Given the description of an element on the screen output the (x, y) to click on. 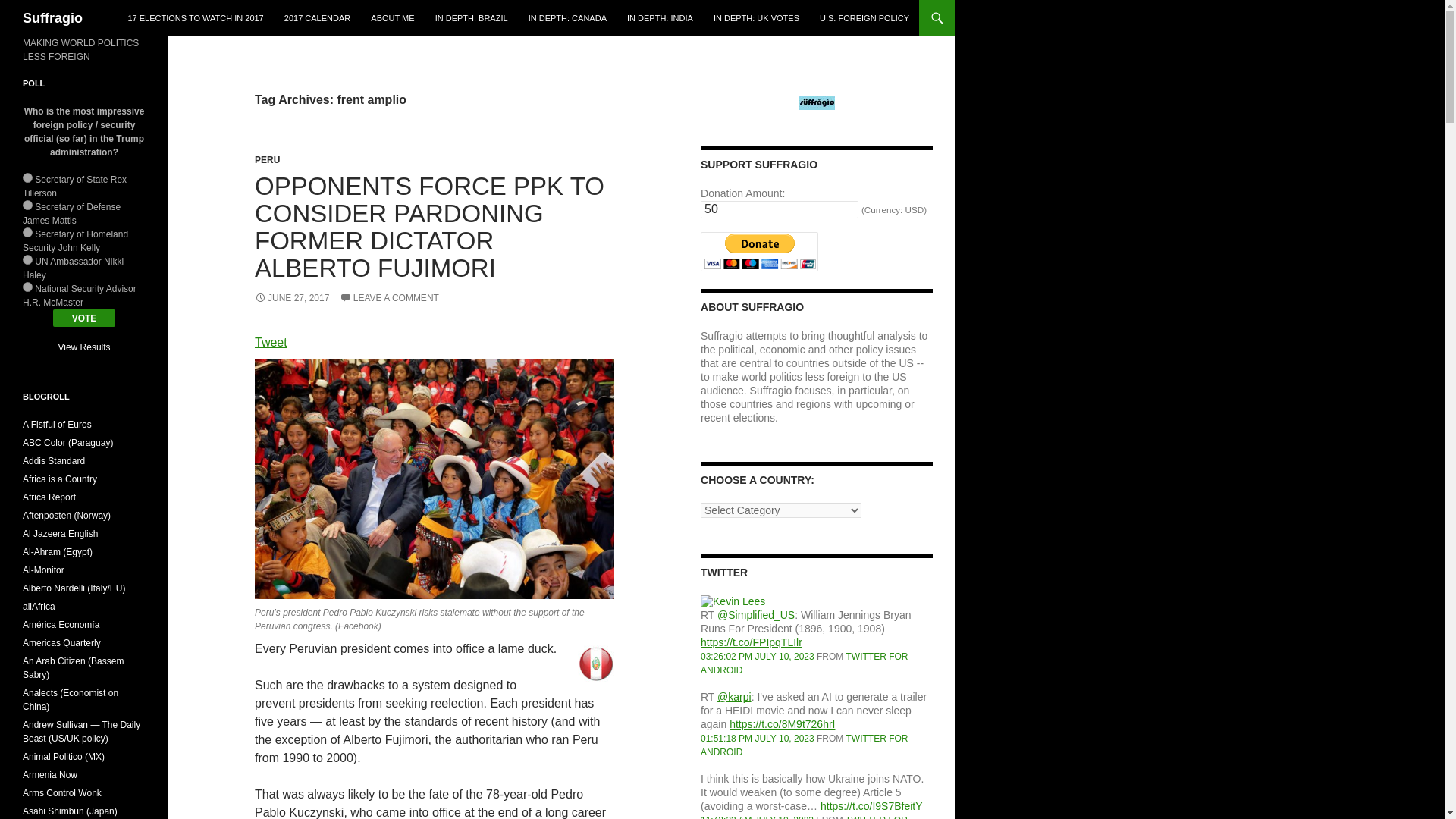
ABOUT ME (392, 18)
Tweet (270, 341)
IN DEPTH: INDIA (659, 18)
93 (27, 232)
Kevin Lees (732, 601)
2017 CALENDAR (317, 18)
PERU (266, 159)
U.S. FOREIGN POLICY (864, 18)
IN DEPTH: CANADA (567, 18)
   Vote    (84, 317)
